Given the description of an element on the screen output the (x, y) to click on. 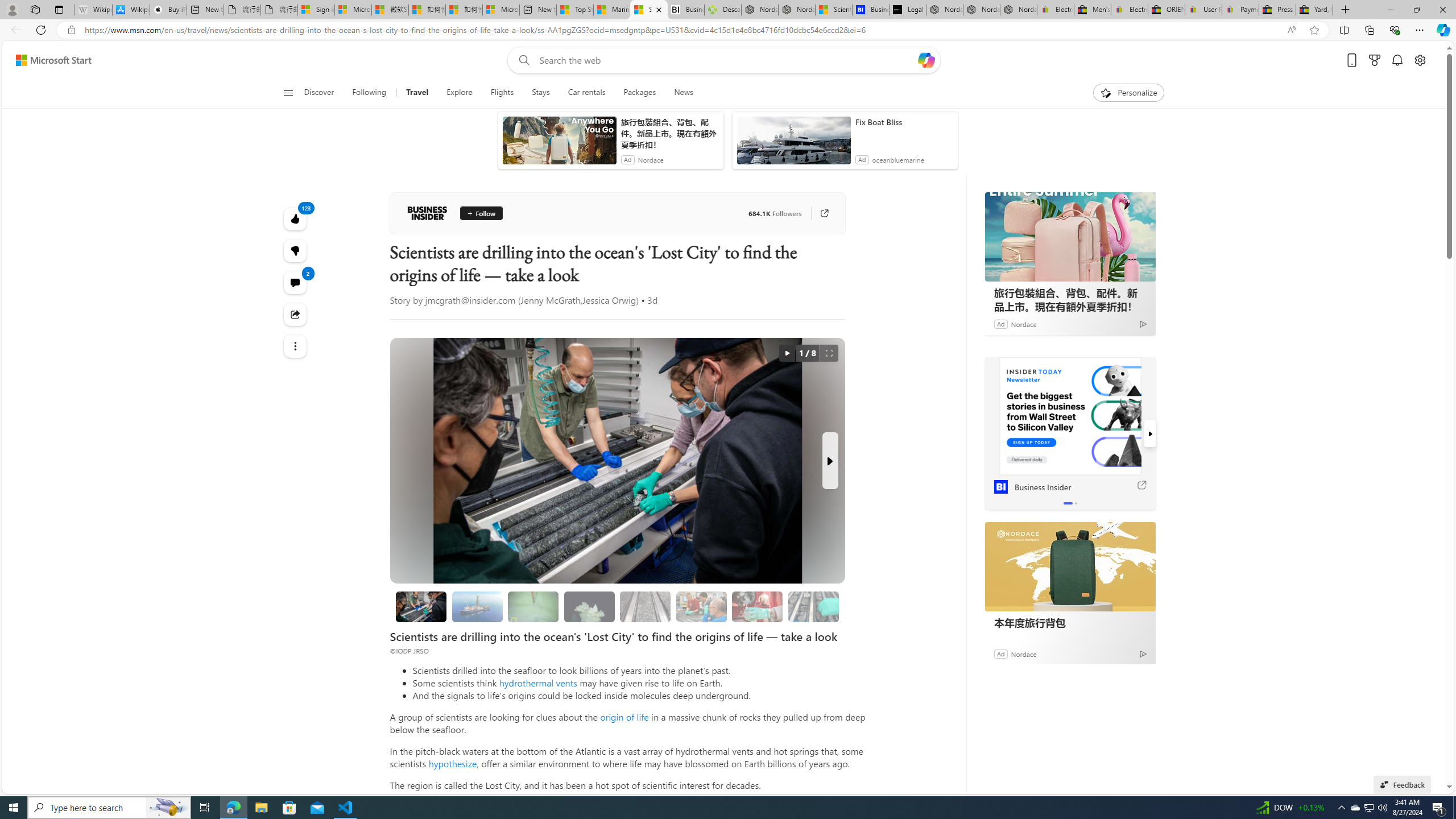
Skip to footer (46, 59)
View comments 2 Comment (295, 282)
Next Slide (829, 460)
hypothesize, (453, 763)
oceanbluemarine (898, 159)
anim-content (793, 144)
Wikipedia - Sleeping (92, 9)
